Given the description of an element on the screen output the (x, y) to click on. 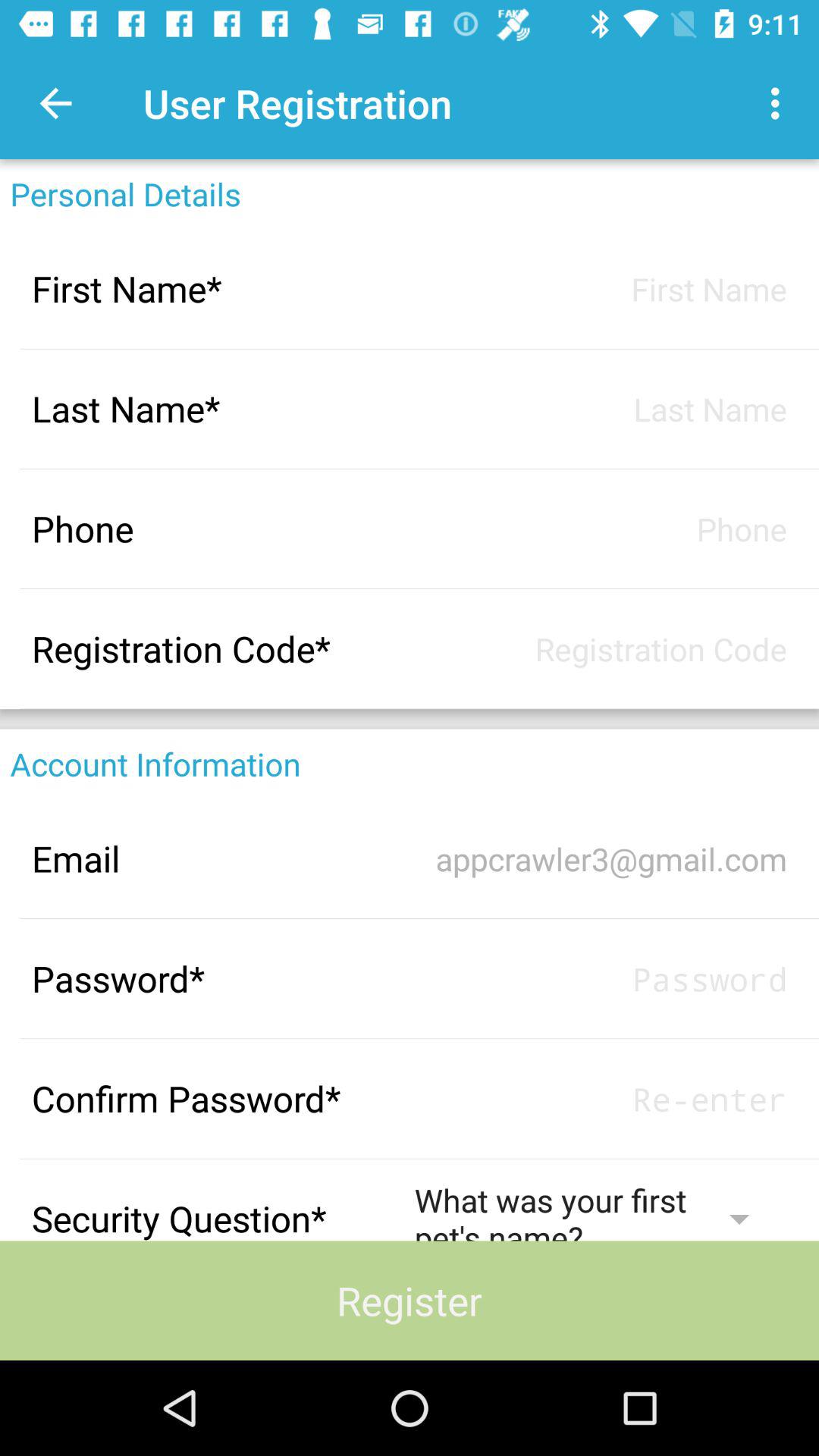
enter the registration code (600, 648)
